Given the description of an element on the screen output the (x, y) to click on. 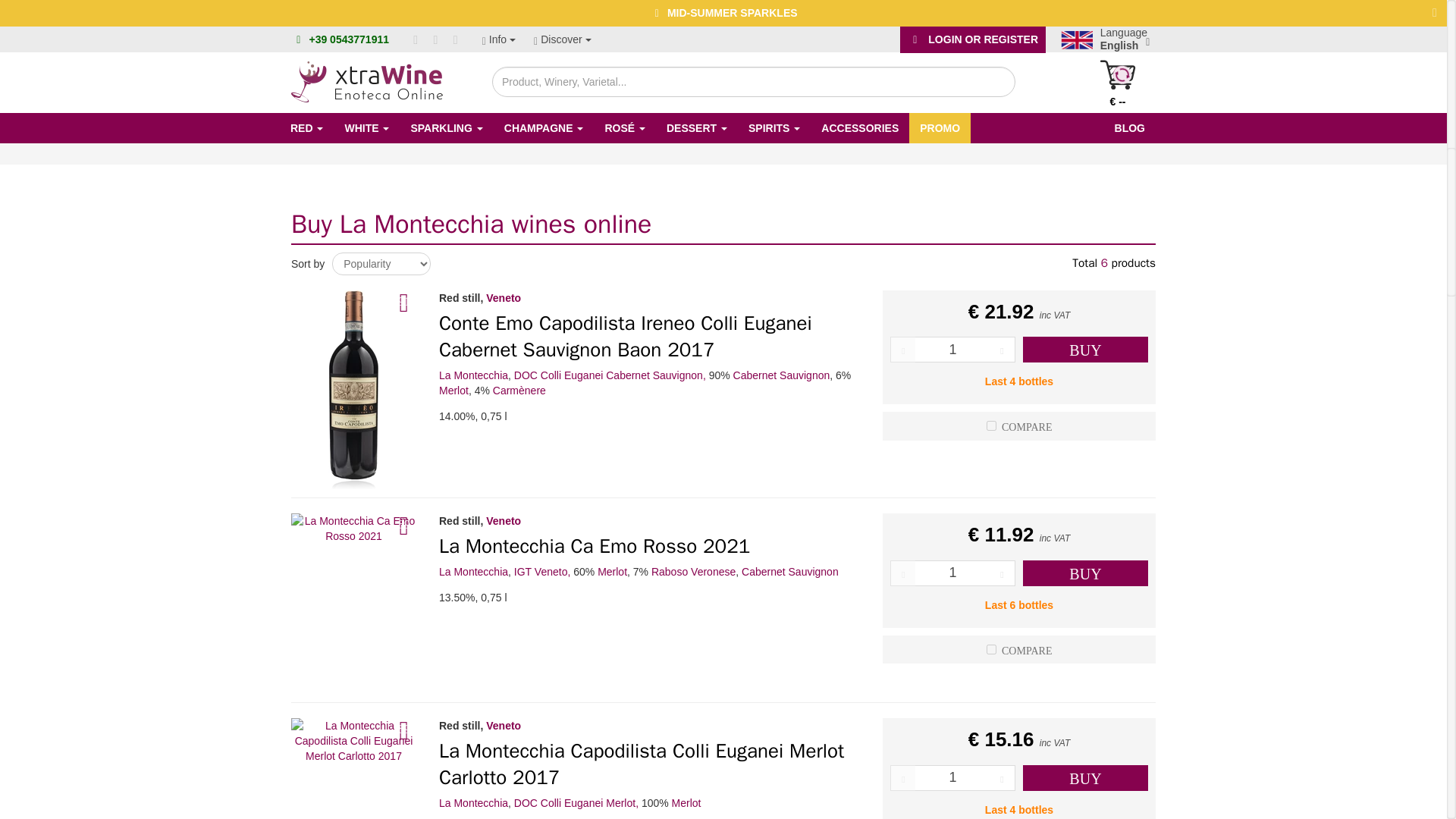
on (991, 425)
1 (952, 349)
on (991, 649)
1 (952, 777)
1 (952, 573)
